Given the description of an element on the screen output the (x, y) to click on. 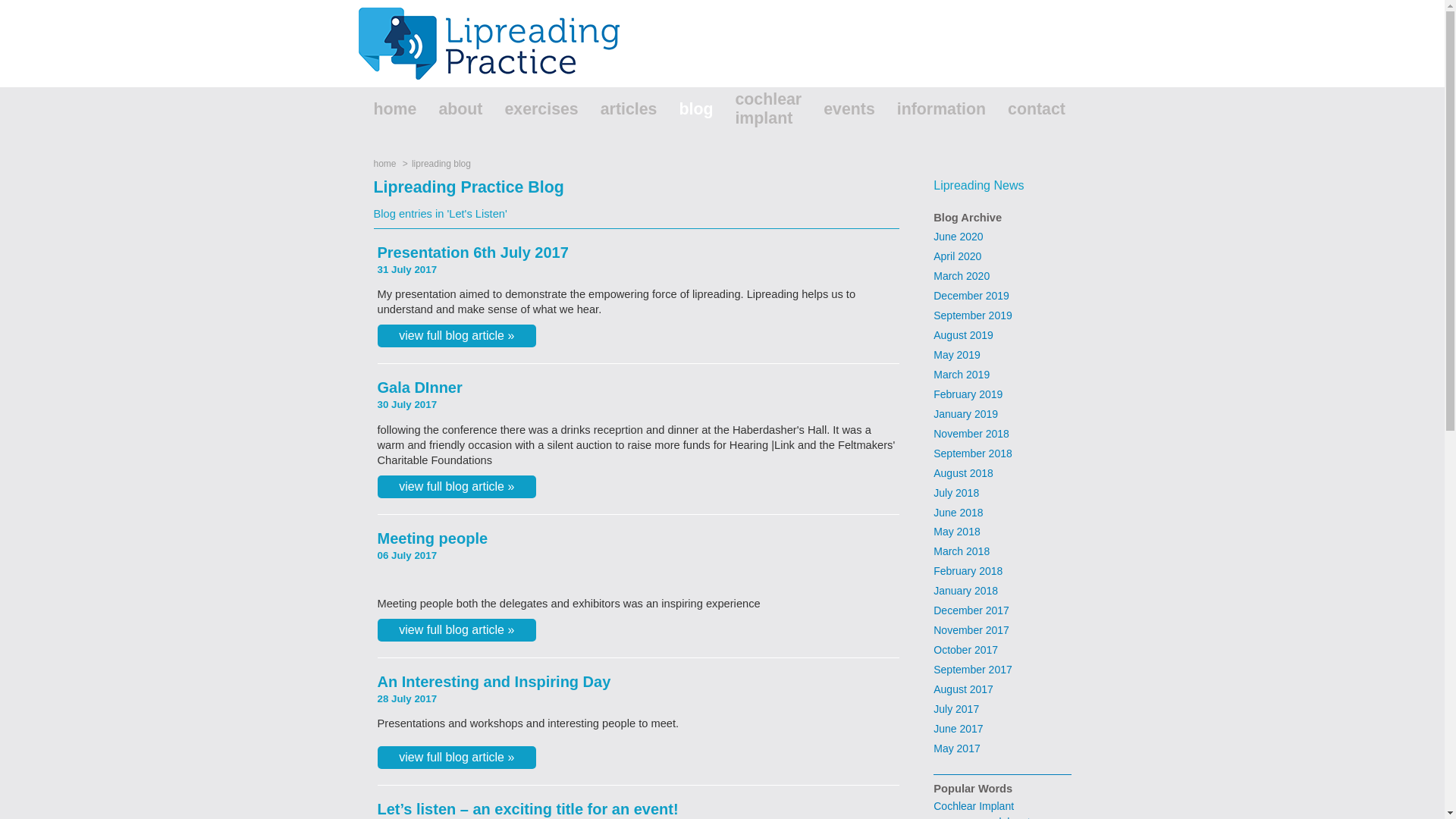
about (470, 115)
March 2020 (1001, 276)
blog (706, 115)
June 2020 (1001, 237)
articles (639, 115)
information (951, 115)
November 2018 (1001, 434)
August 2019 (1001, 335)
Lipreading News (978, 185)
contact (1047, 115)
December 2019 (1001, 296)
January 2019 (1001, 414)
June 2018 (1001, 513)
February 2018 (1001, 571)
September 2019 (1001, 315)
